Given the description of an element on the screen output the (x, y) to click on. 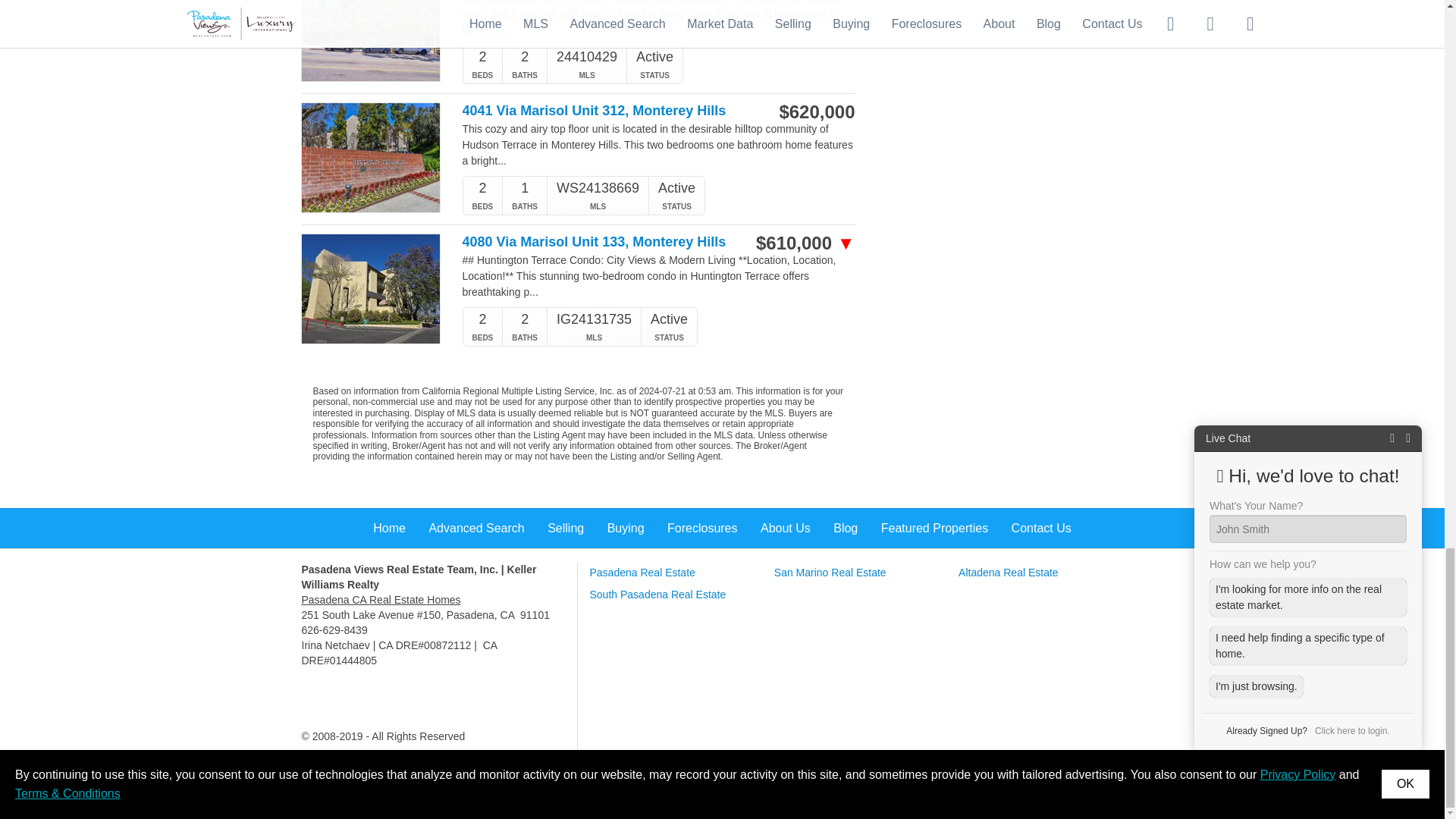
Pasadena Views Real Estate Team - Pasadena Homes for Sale (381, 599)
4041 Via Marisol Unit 312, Monterey Hills (600, 110)
4080 Via Marisol Unit 133, Monterey Hills (600, 242)
